Given the description of an element on the screen output the (x, y) to click on. 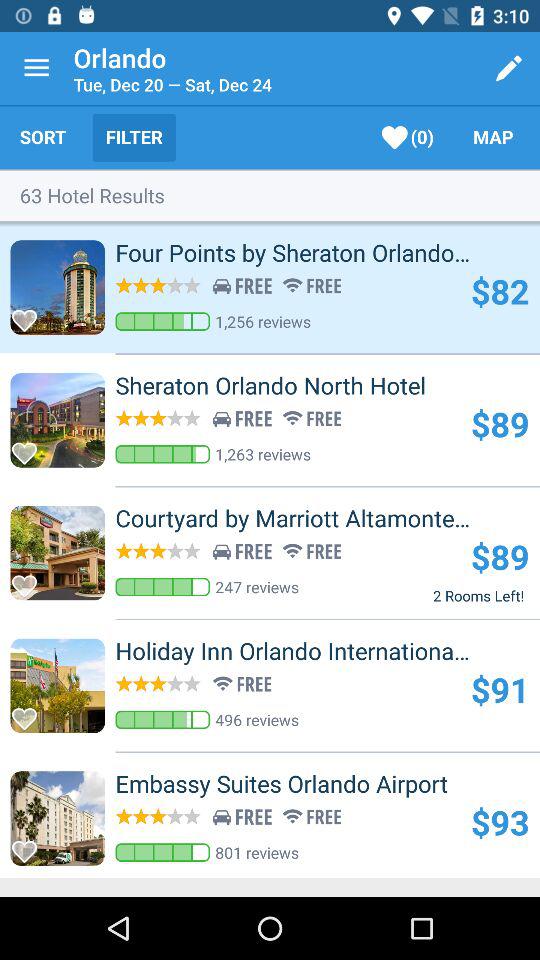
turn on icon to the left of the (0) (133, 137)
